Given the description of an element on the screen output the (x, y) to click on. 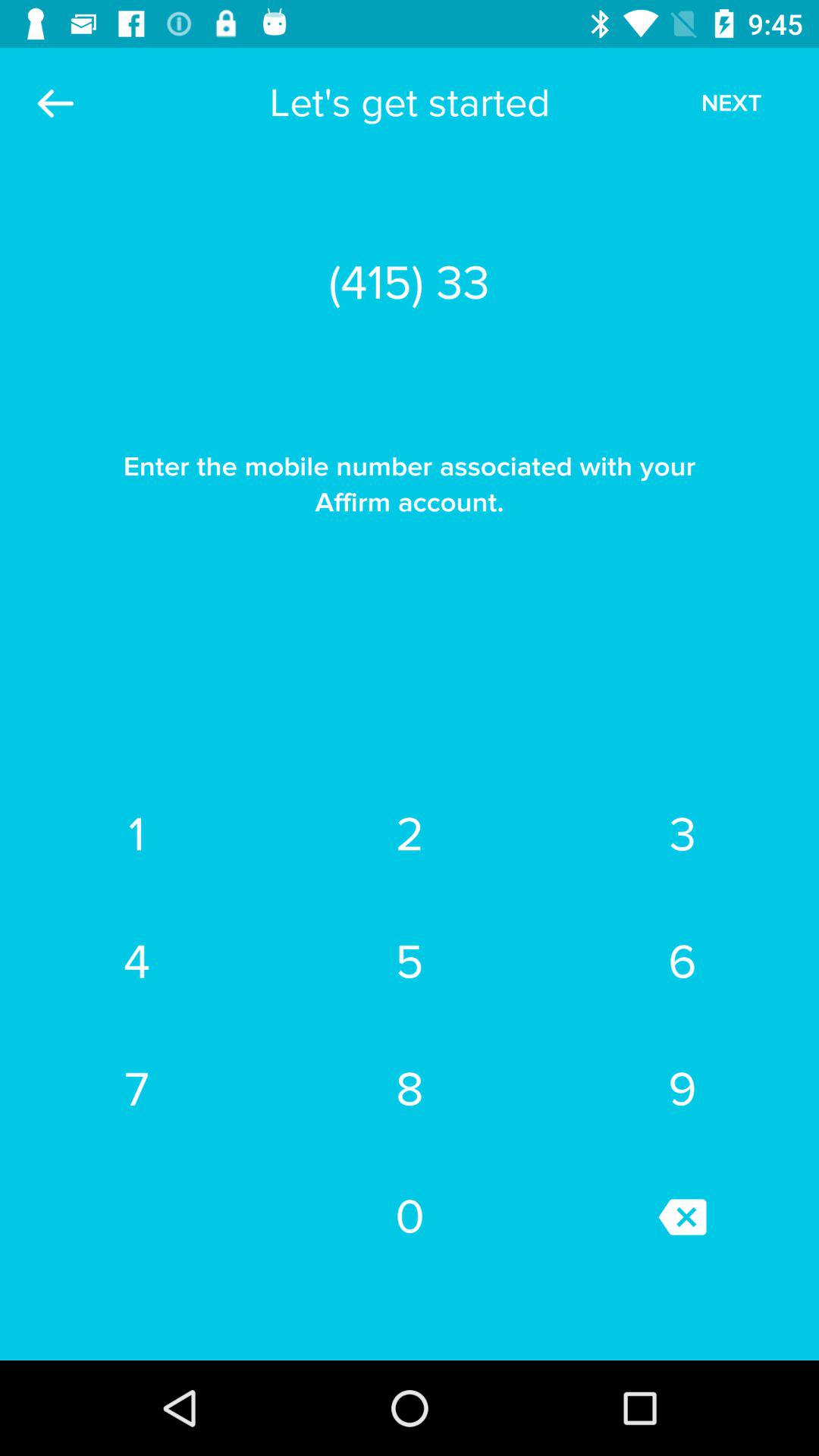
turn on item to the left of the 3 (409, 962)
